Given the description of an element on the screen output the (x, y) to click on. 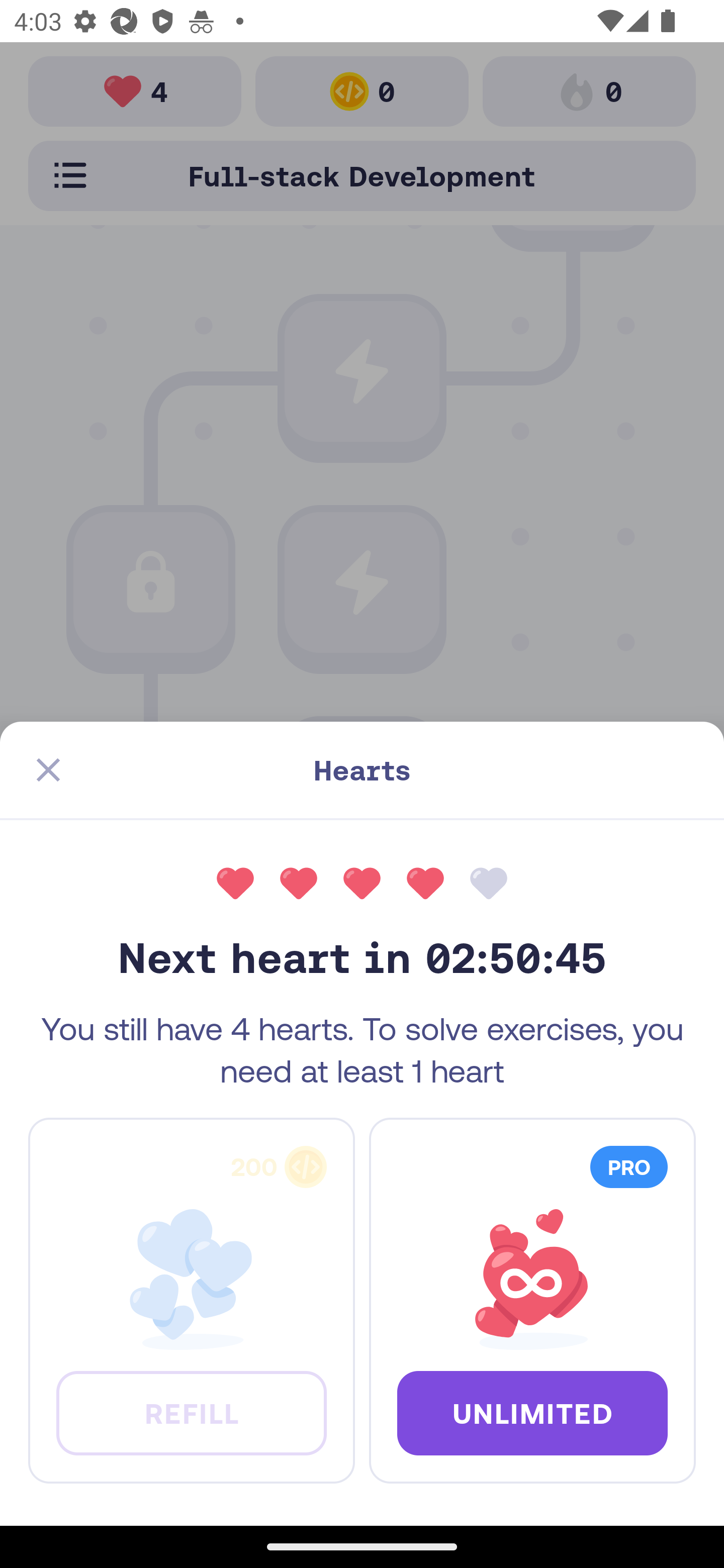
Path Icon (361, 792)
Close (47, 769)
REFILL (191, 1412)
UNLIMITED (532, 1412)
